Given the description of an element on the screen output the (x, y) to click on. 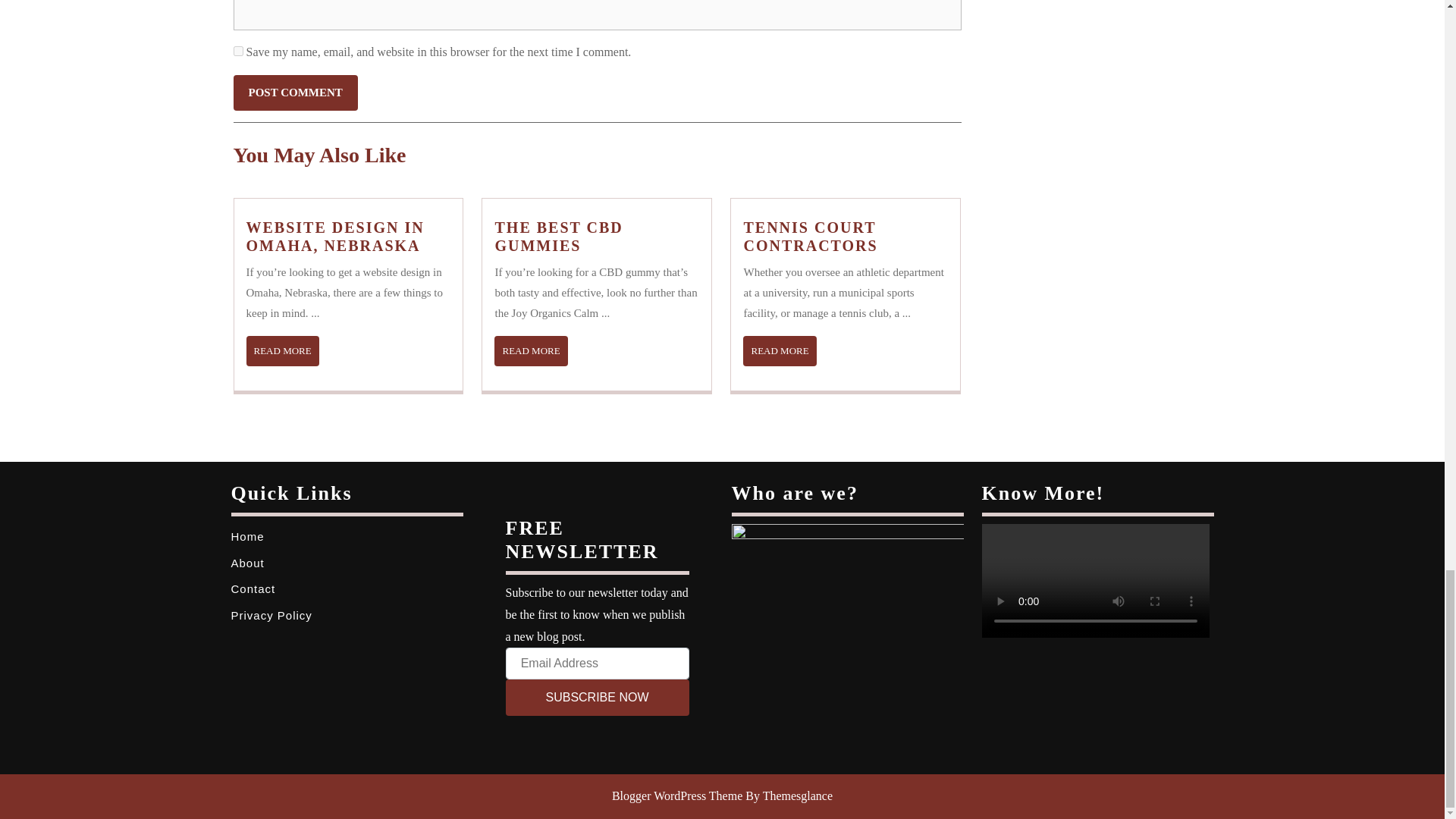
yes (282, 350)
SUBSCRIBE NOW (237, 50)
Post Comment (531, 350)
Post Comment (778, 350)
